Given the description of an element on the screen output the (x, y) to click on. 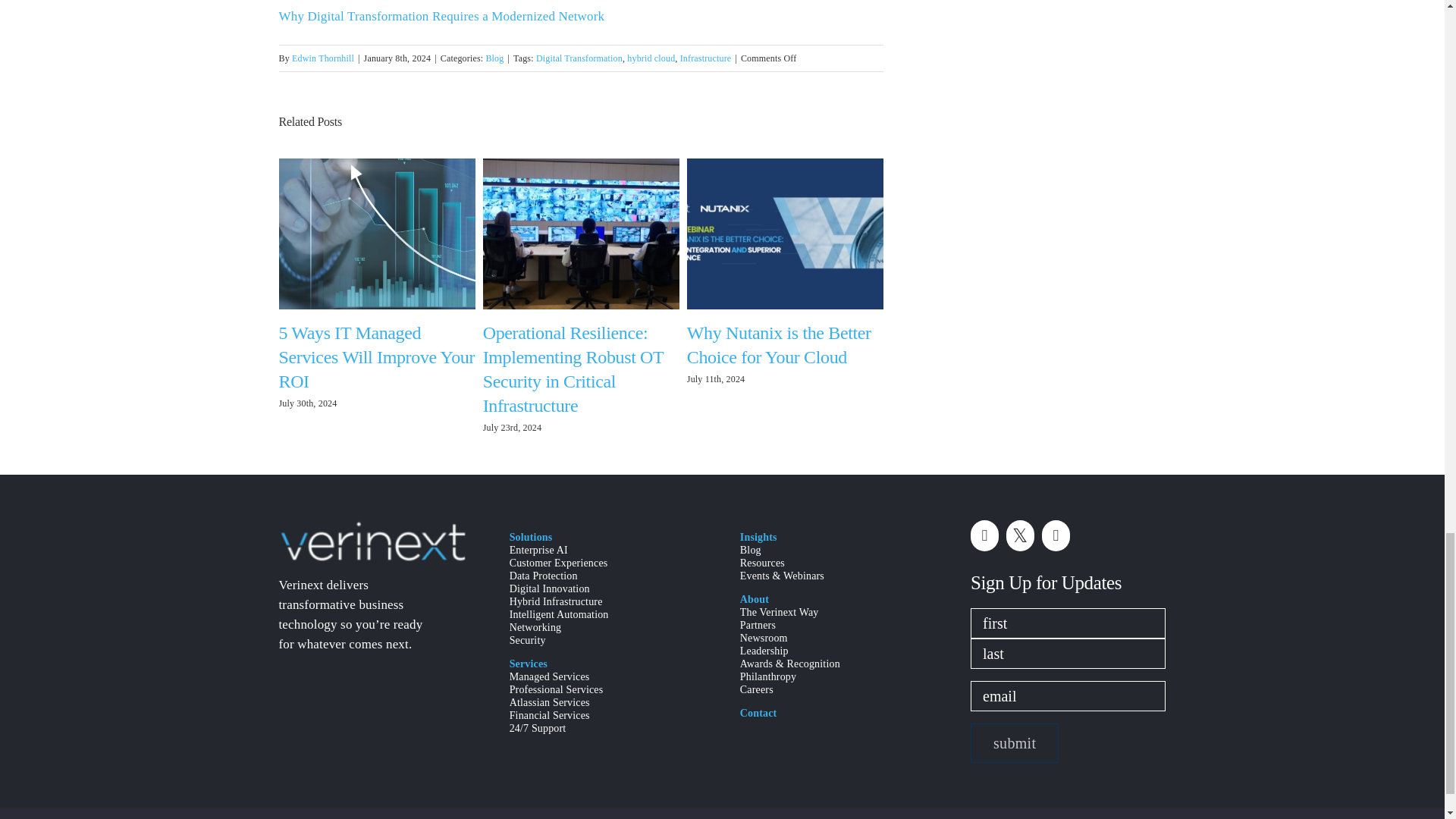
Submit (1014, 742)
Posts by Edwin Thornhill (322, 58)
logo (372, 541)
Why Nutanix is the Better Choice for Your Cloud (778, 344)
LinkedIn (984, 535)
Instagram (1056, 535)
X (1019, 535)
5 Ways IT Managed Services Will Improve Your ROI (377, 356)
